Given the description of an element on the screen output the (x, y) to click on. 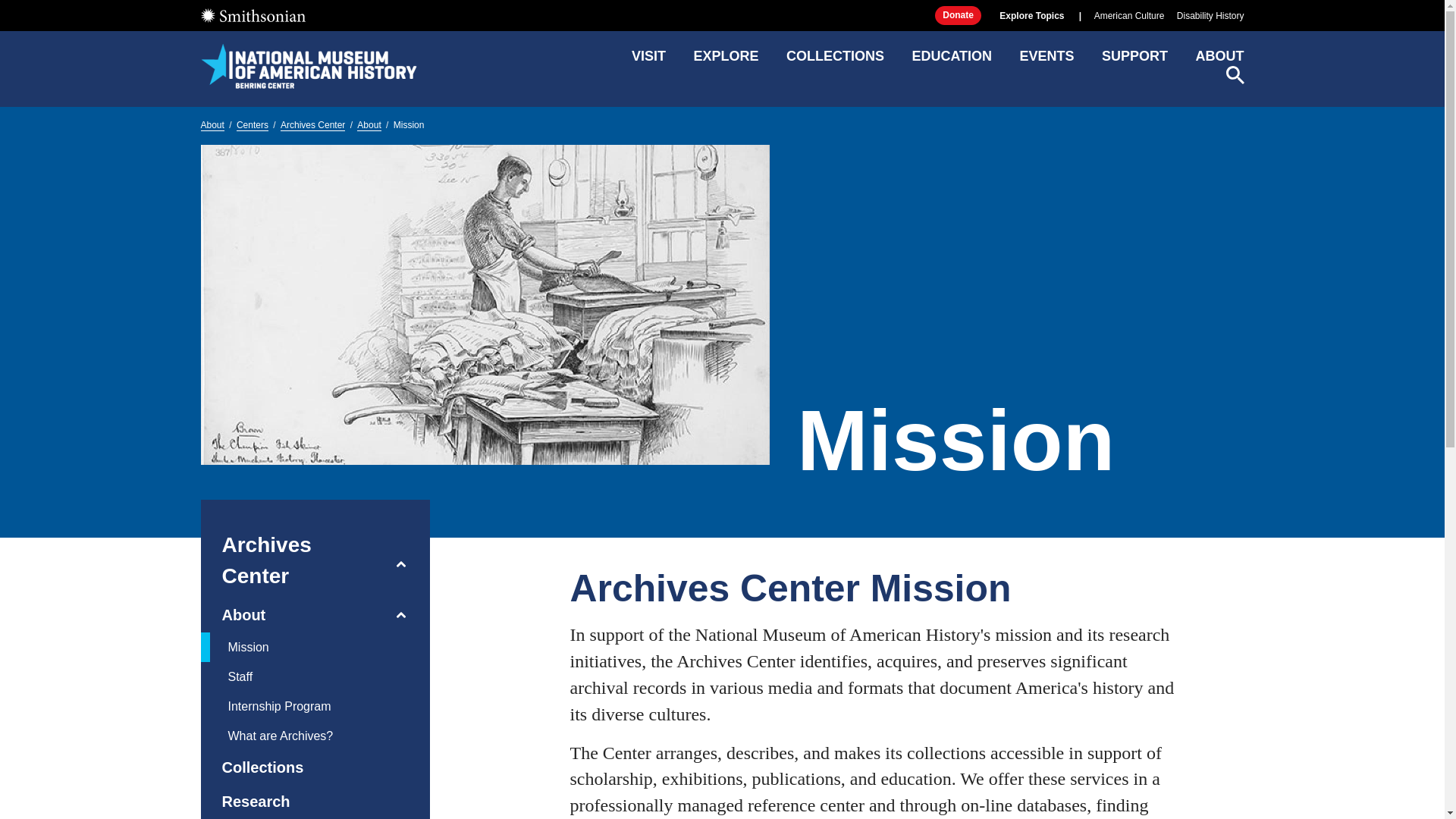
Centers (251, 125)
Smithsonian (252, 15)
Mission (302, 646)
National Museum of American History (308, 65)
Archives Center (313, 125)
Archives Center (292, 560)
Staff (302, 676)
Internship Program (302, 706)
EDUCATION (951, 60)
What are Archives? (302, 736)
About (212, 125)
About (232, 615)
EVENTS (1047, 60)
SUPPORT (1134, 60)
Donate (957, 15)
